Given the description of an element on the screen output the (x, y) to click on. 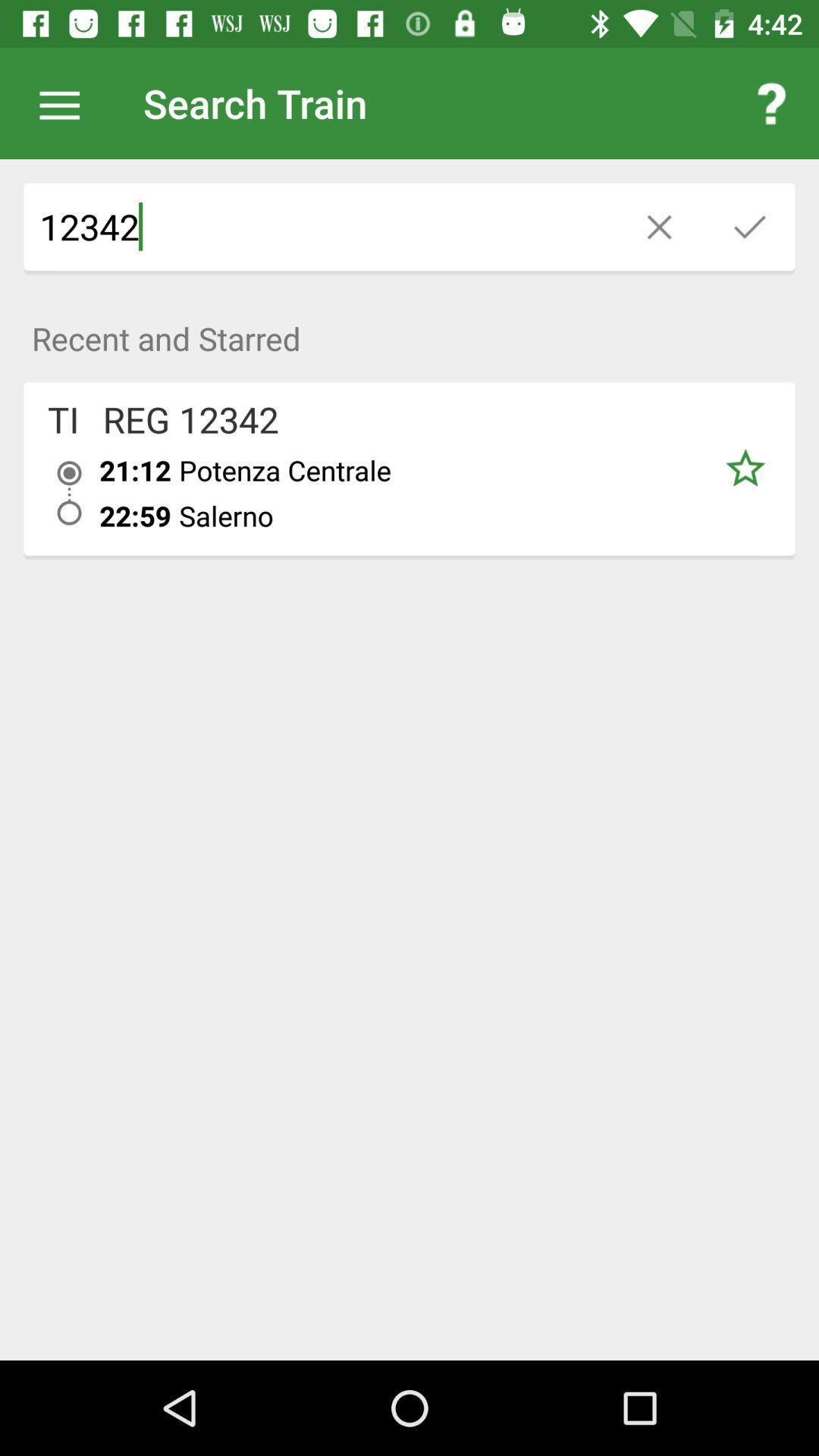
press the item below the reg 12342 (135, 470)
